Given the description of an element on the screen output the (x, y) to click on. 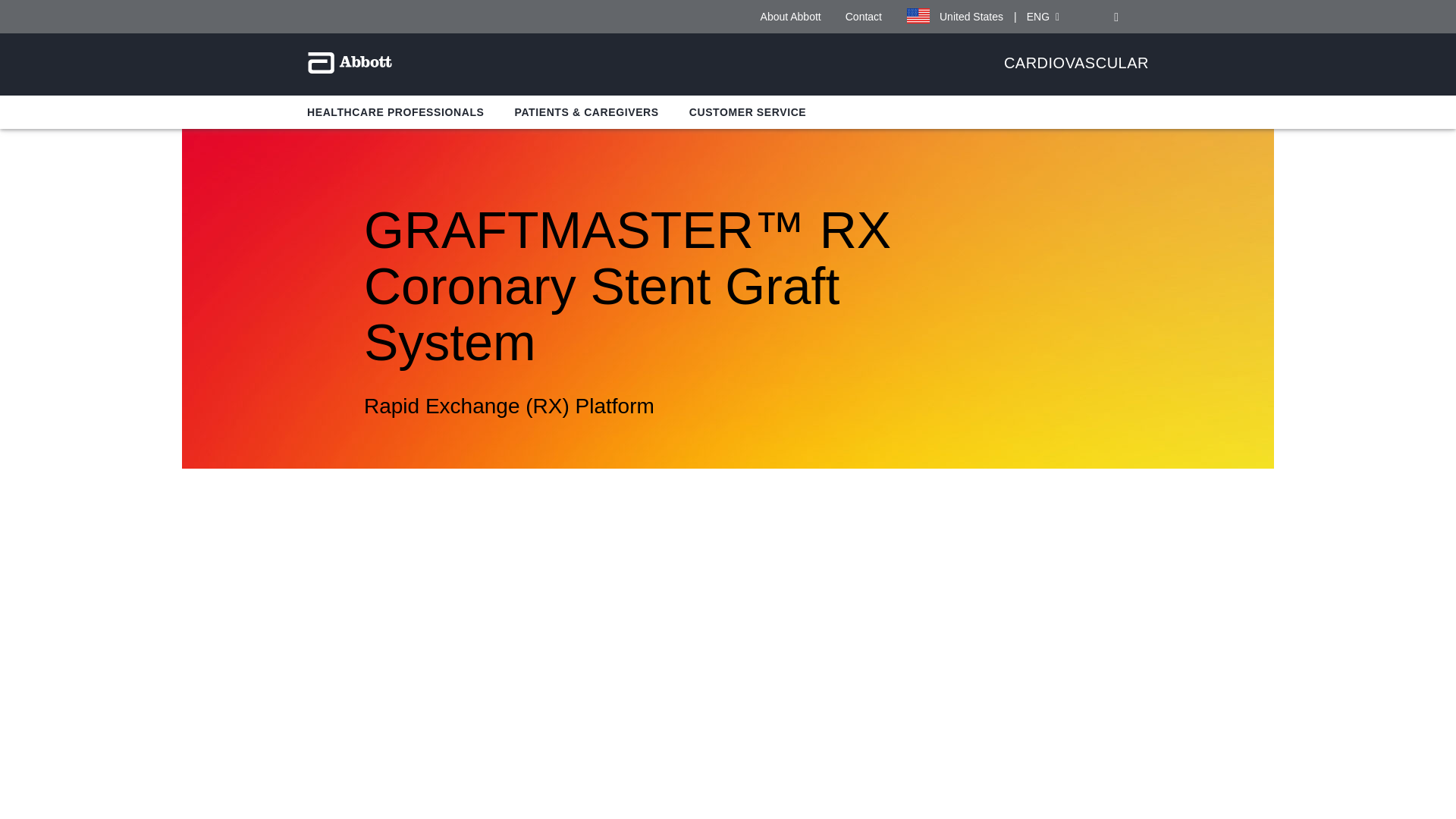
Contact (863, 16)
About Abbott (790, 16)
HEALTHCARE PROFESSIONALS (395, 111)
